Given the description of an element on the screen output the (x, y) to click on. 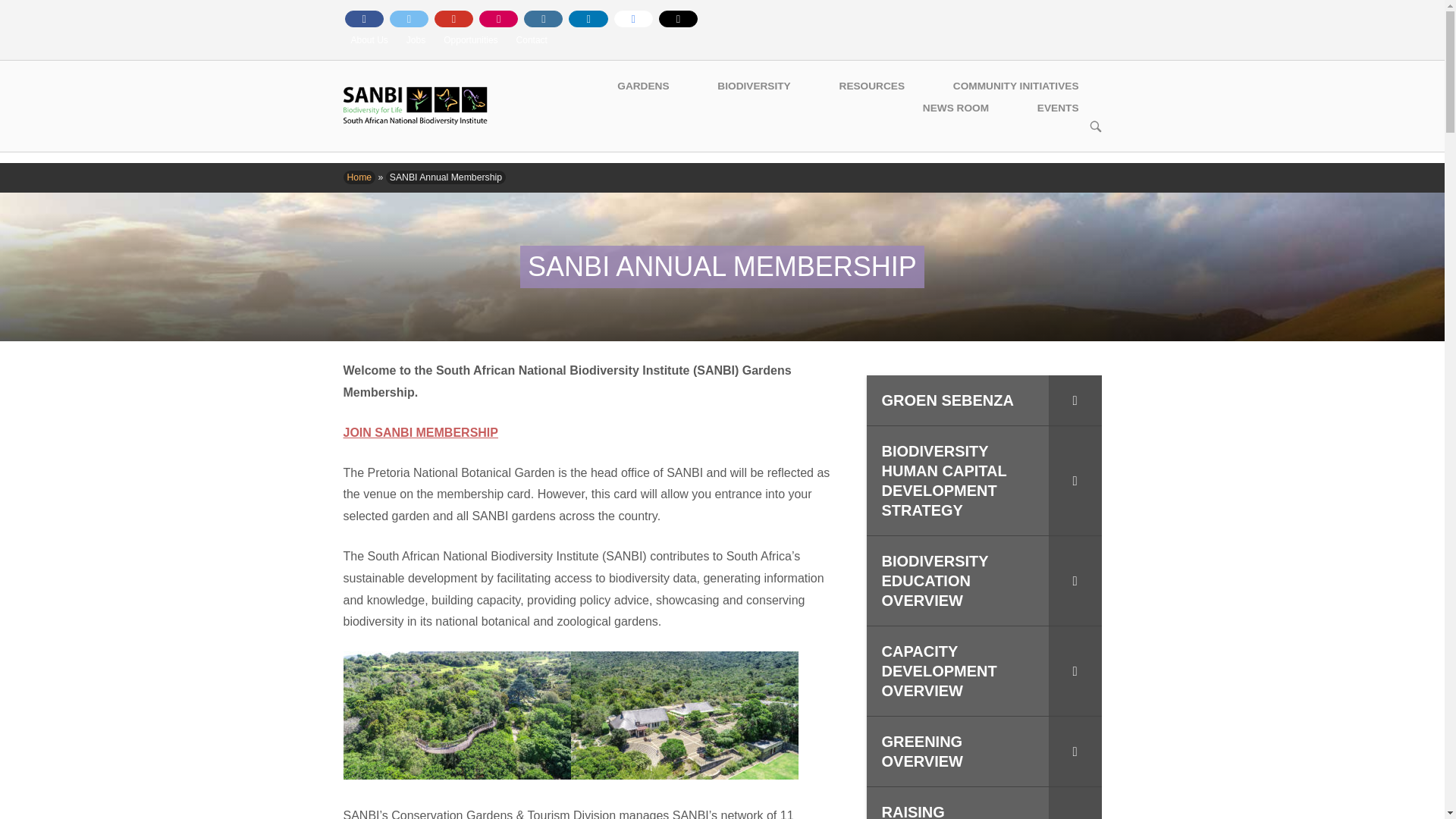
Home (414, 105)
RESOURCES (872, 86)
Opportunities (469, 40)
EVENTS (1058, 108)
SANBI on Flickr (498, 18)
BIODIVERSITY (753, 86)
JOIN SANBI MEMBERSHIP (419, 431)
SANBI on Twitter (409, 18)
About Us (369, 40)
SANBI on Instagram (543, 18)
SANBI on Linkedin (588, 18)
COMMUNITY INITIATIVES (1016, 86)
SANBI on Youtube (453, 18)
SANBI on Google (633, 18)
SANBI on  (722, 18)
